Given the description of an element on the screen output the (x, y) to click on. 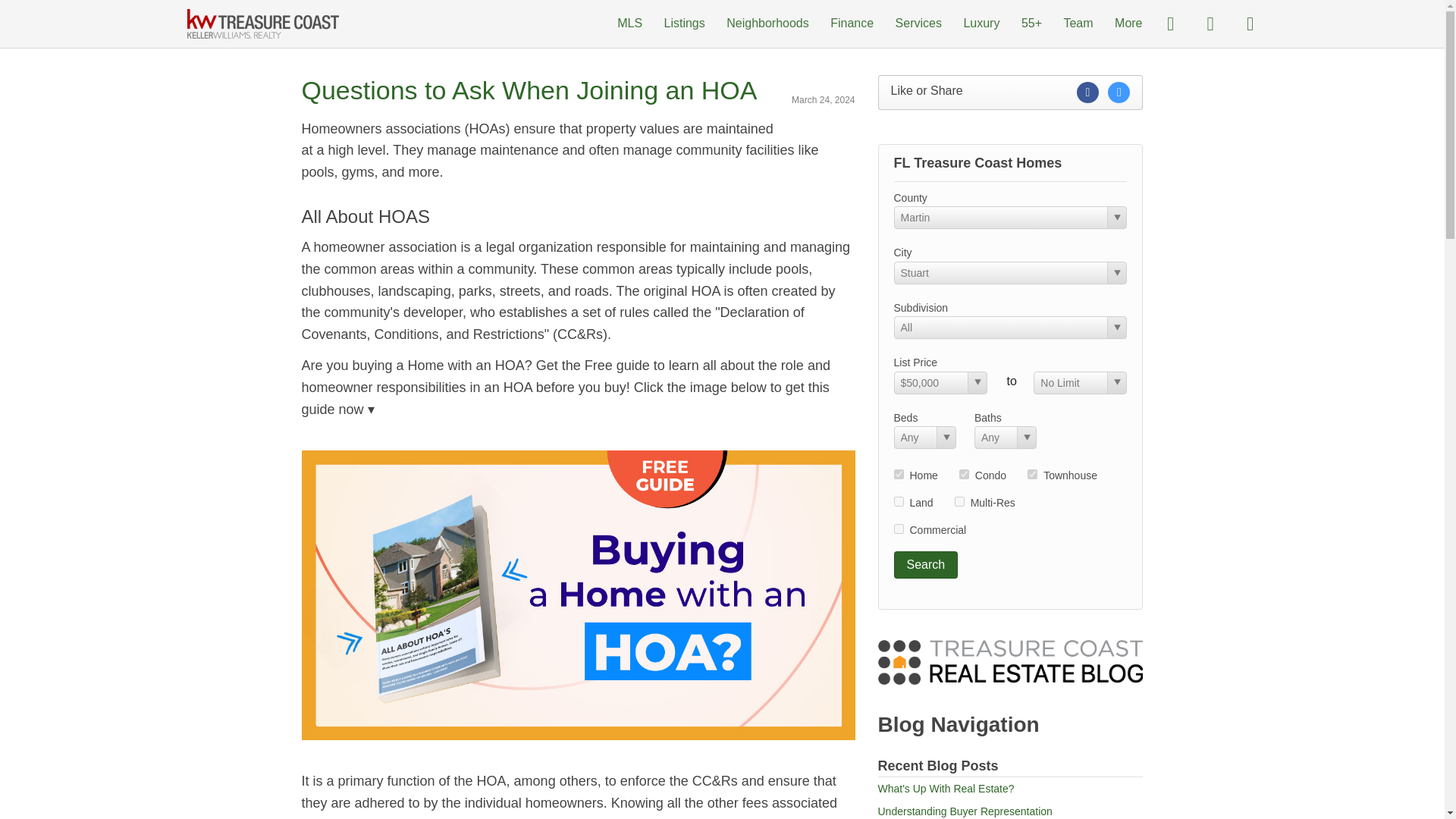
lnd (897, 501)
Luxury (980, 22)
Like or Share (1009, 92)
Questions to Ask When Joining an HOA (529, 90)
mul (959, 501)
con (964, 474)
Finance (851, 22)
Understanding Buyer Representation (964, 811)
com (897, 528)
